Given the description of an element on the screen output the (x, y) to click on. 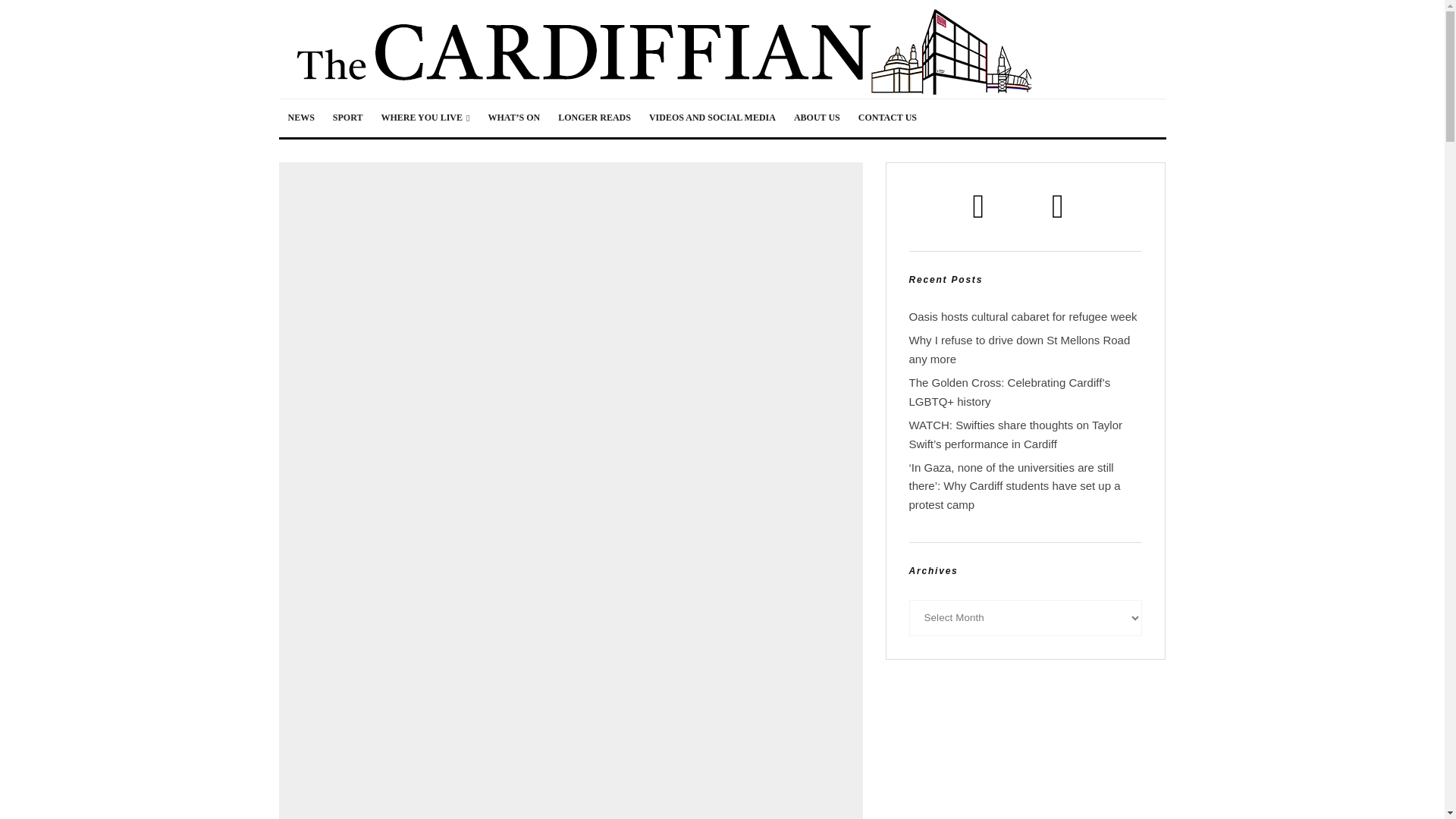
NEWS (301, 118)
SPORT (347, 118)
WHERE YOU LIVE (425, 118)
